Given the description of an element on the screen output the (x, y) to click on. 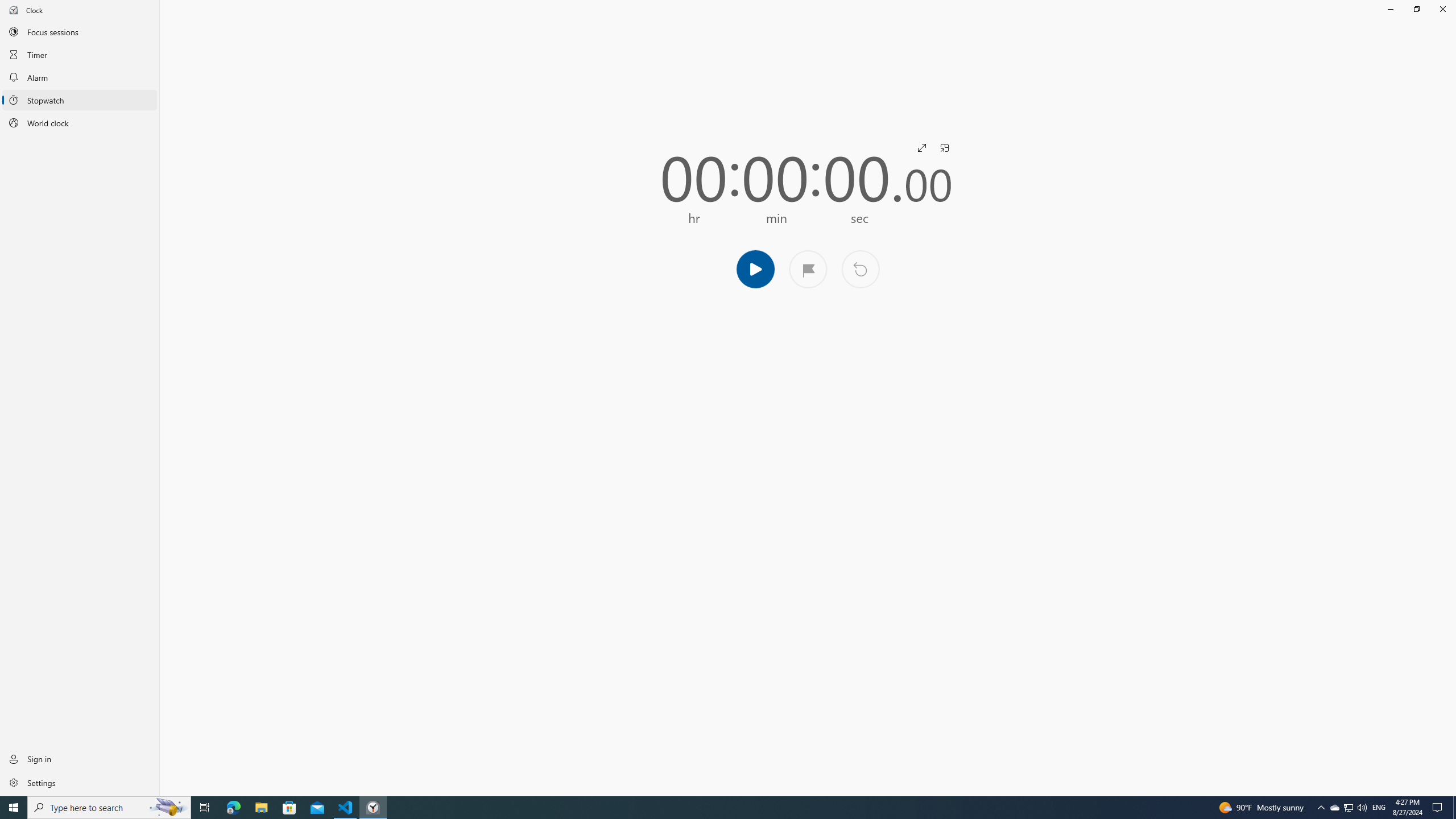
Keep on top (944, 147)
Q2790: 100% (1361, 807)
Search highlights icon opens search home window (167, 807)
Sign in (79, 758)
